Given the description of an element on the screen output the (x, y) to click on. 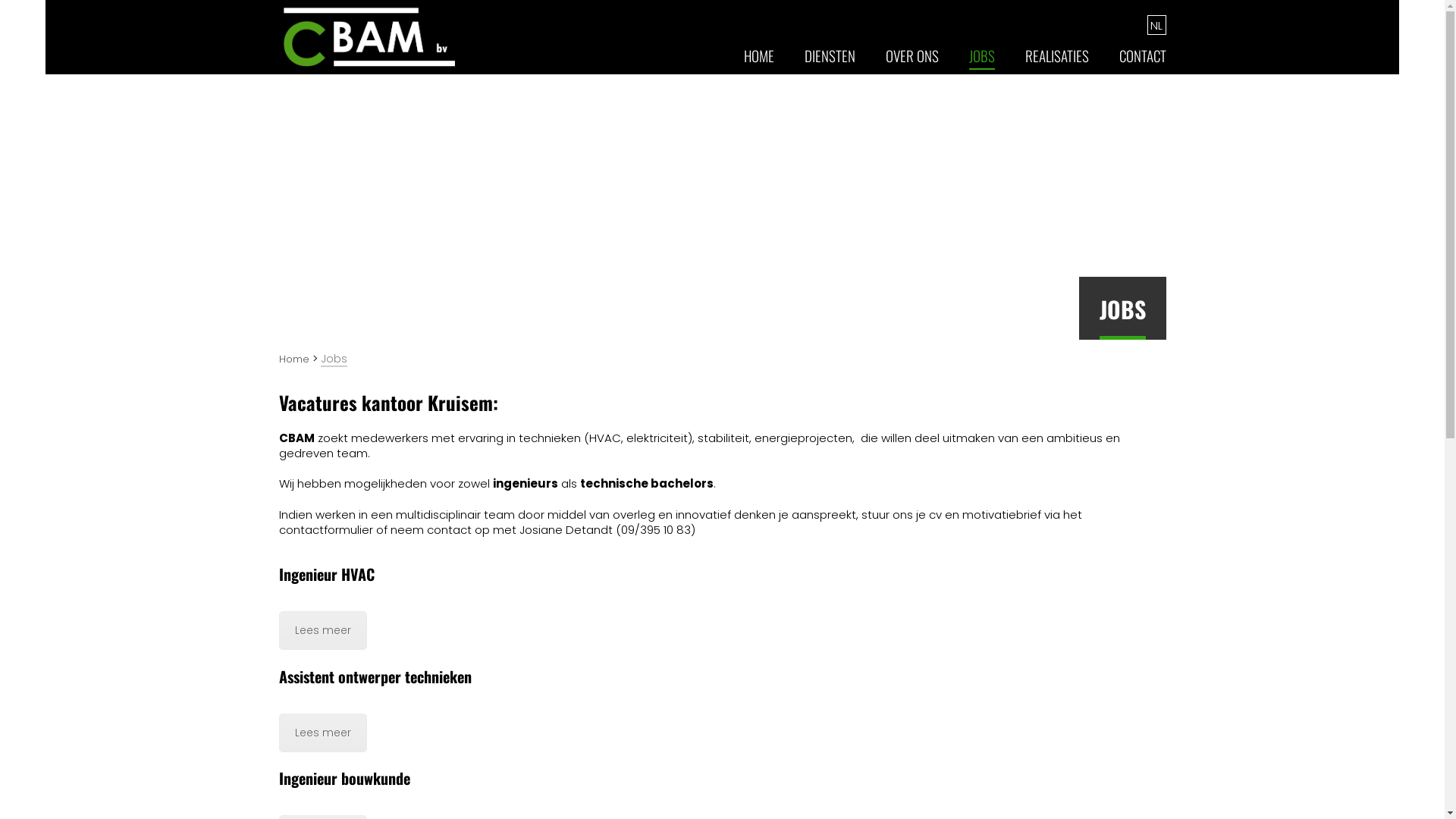
DIENSTEN Element type: text (828, 61)
JOBS Element type: text (981, 61)
HOME Element type: text (758, 61)
REALISATIES Element type: text (1056, 61)
Lees meer Element type: text (323, 732)
Lees meer Element type: text (323, 630)
CONTACT Element type: text (1142, 61)
OVER ONS Element type: text (911, 61)
Home Element type: text (294, 358)
